Given the description of an element on the screen output the (x, y) to click on. 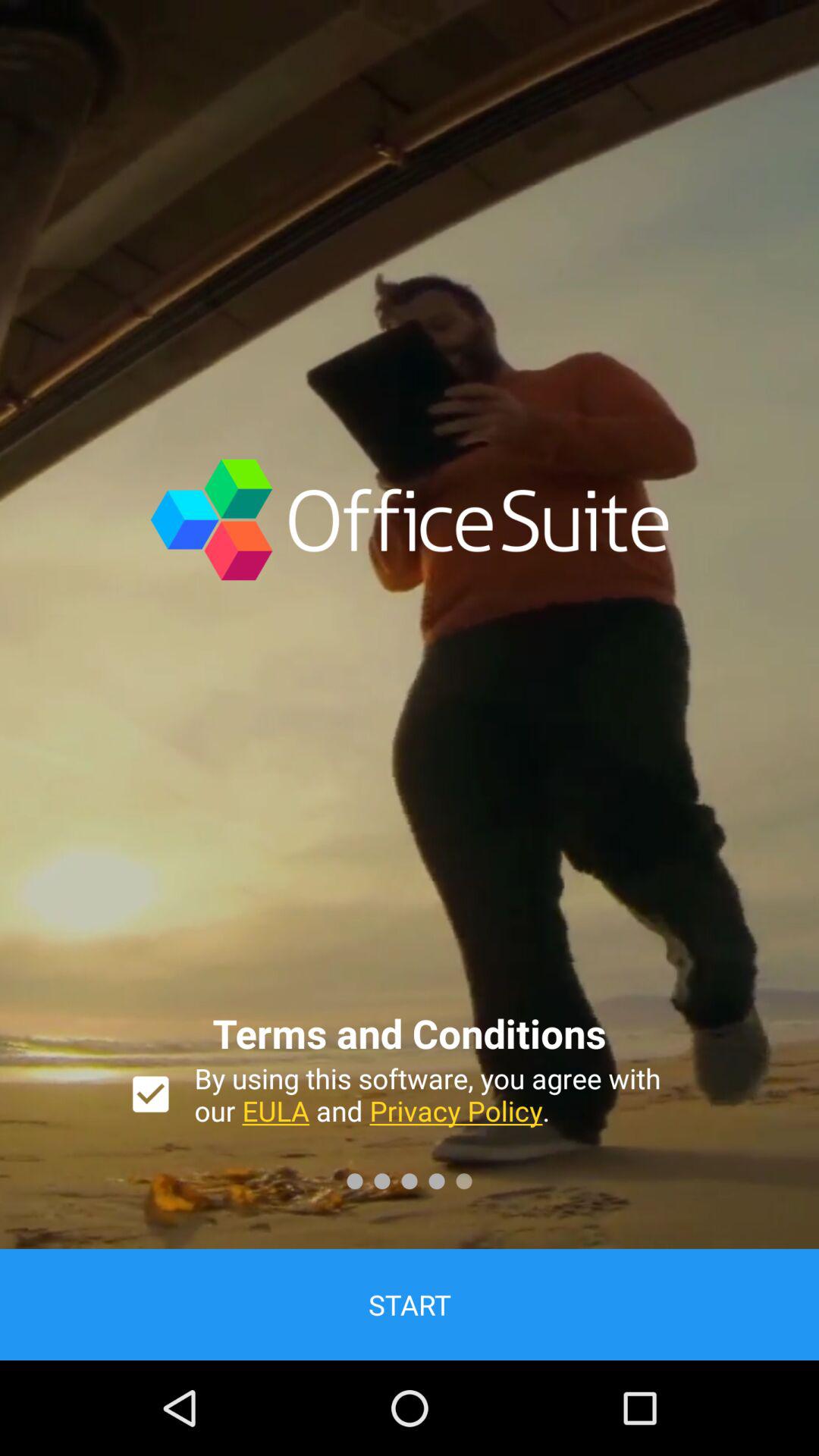
select button (150, 1093)
